Given the description of an element on the screen output the (x, y) to click on. 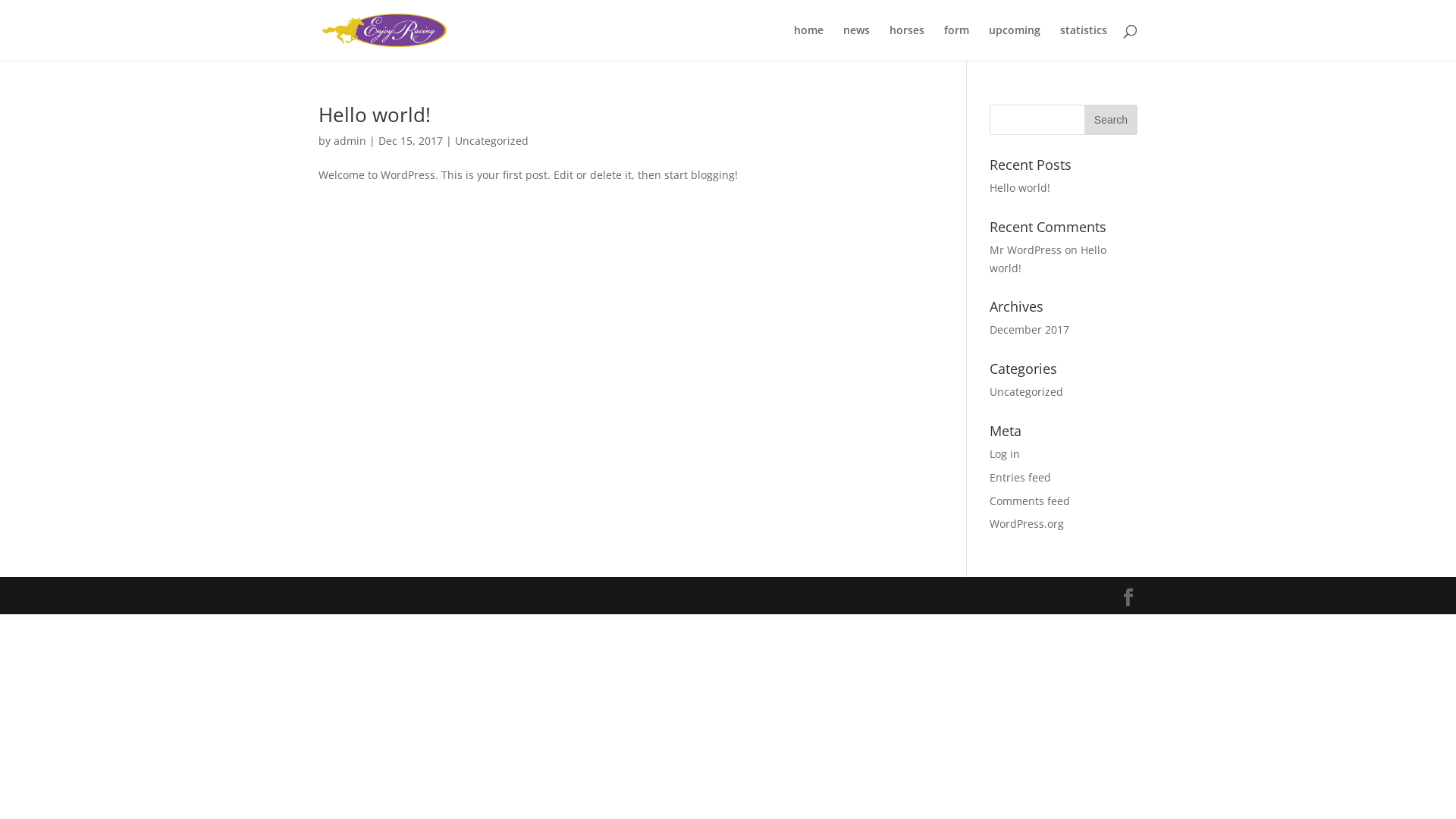
Uncategorized Element type: text (491, 140)
Hello world! Element type: text (1047, 258)
admin Element type: text (349, 140)
statistics Element type: text (1083, 42)
Hello world! Element type: text (1019, 187)
Log in Element type: text (1004, 453)
Mr WordPress Element type: text (1025, 249)
home Element type: text (808, 42)
Comments feed Element type: text (1029, 500)
news Element type: text (856, 42)
form Element type: text (956, 42)
upcoming Element type: text (1014, 42)
December 2017 Element type: text (1029, 329)
Hello world! Element type: text (374, 114)
Uncategorized Element type: text (1026, 391)
Search Element type: text (1110, 119)
horses Element type: text (906, 42)
Entries feed Element type: text (1020, 477)
WordPress.org Element type: text (1026, 523)
